Given the description of an element on the screen output the (x, y) to click on. 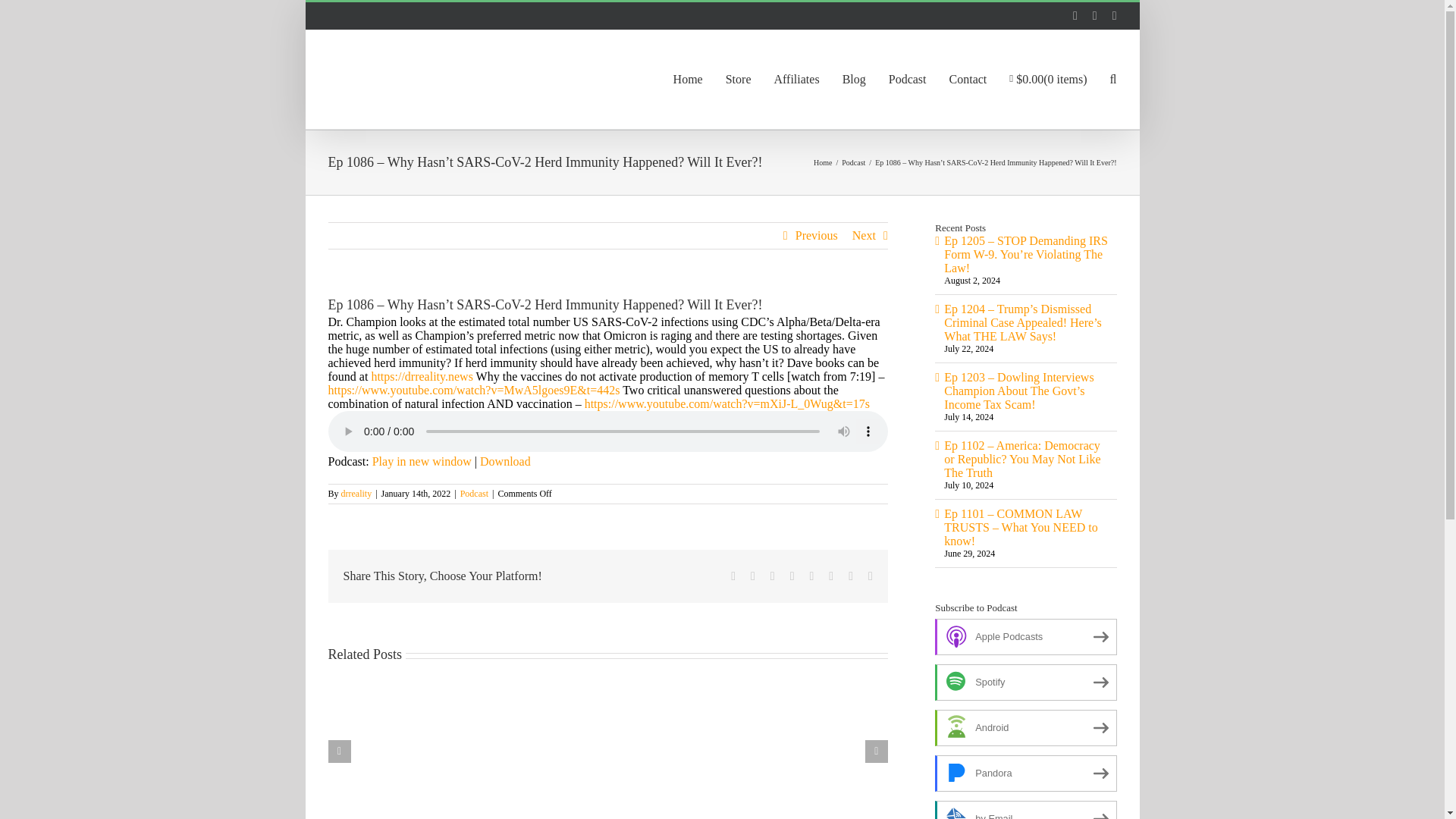
Podcast (852, 162)
Posts by drreality (356, 493)
Previous (816, 235)
Podcast (473, 493)
Next (863, 235)
Play in new window (421, 461)
drreality (356, 493)
Download (505, 461)
Home (822, 162)
Play in new window (421, 461)
Download (505, 461)
